Given the description of an element on the screen output the (x, y) to click on. 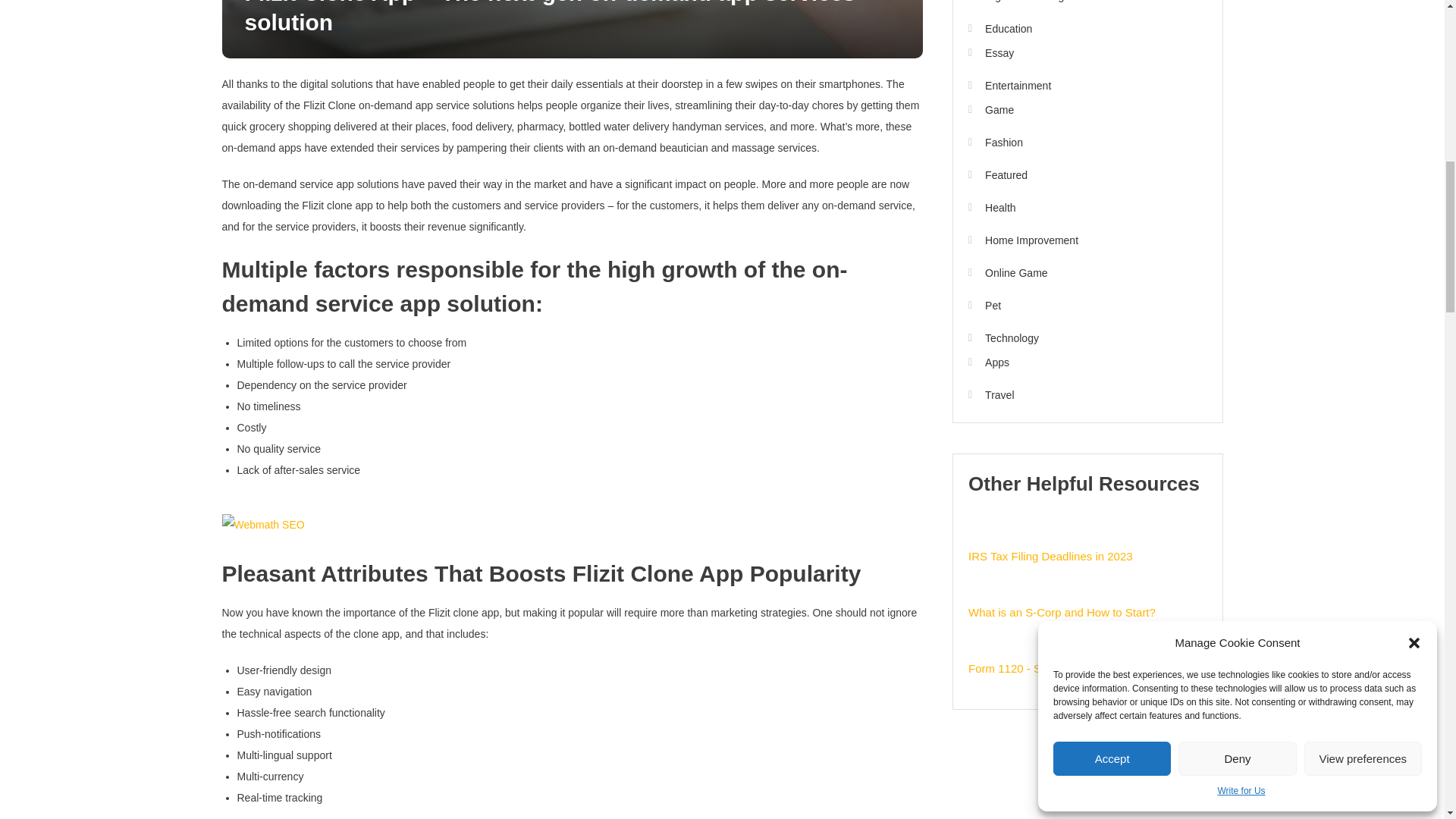
PBN Link Building (262, 524)
